Given the description of an element on the screen output the (x, y) to click on. 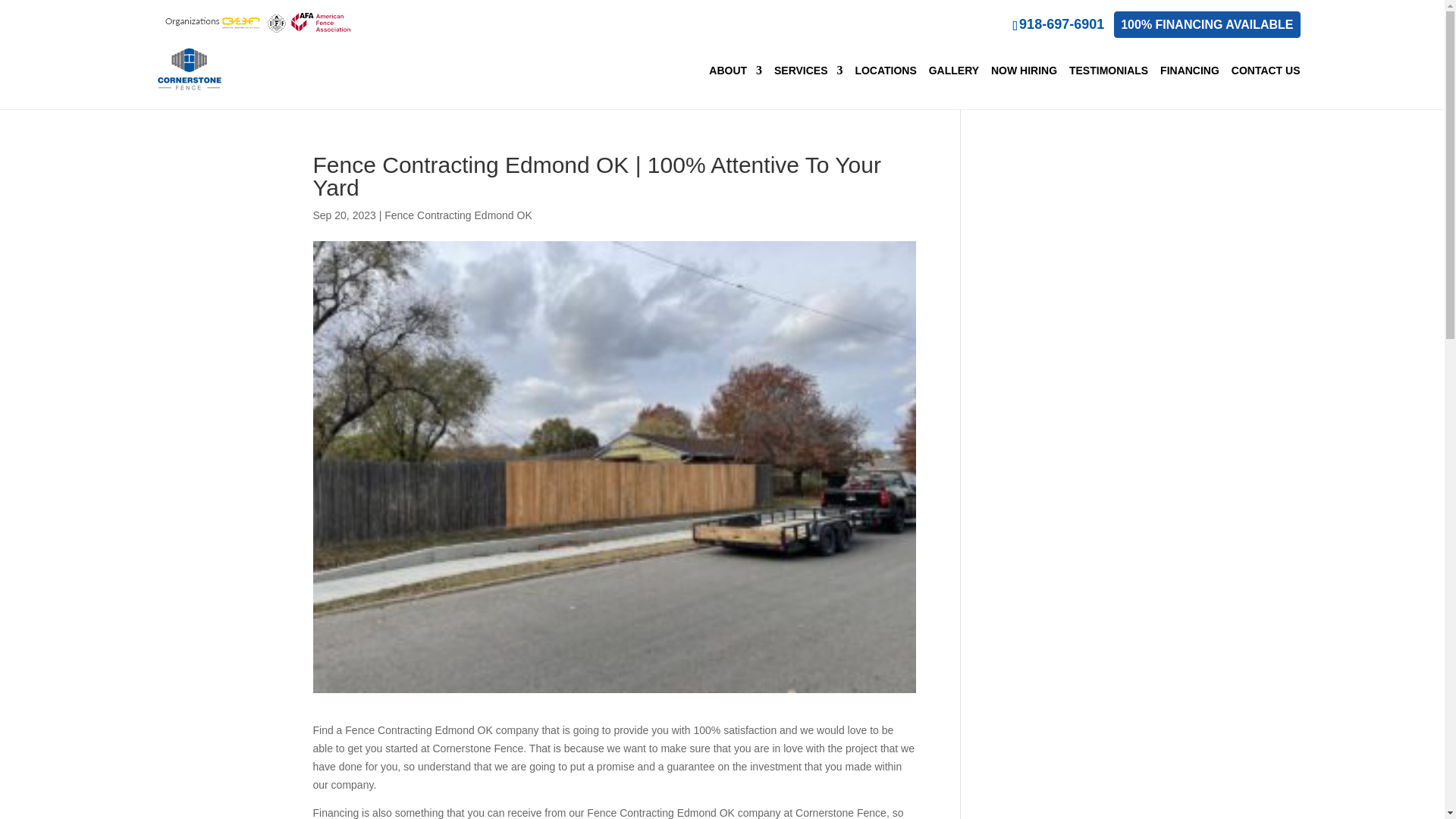
GALLERY (953, 70)
ABOUT (735, 70)
SERVICES (808, 70)
NOW HIRING (1024, 70)
TESTIMONIALS (1108, 70)
LOCATIONS (884, 70)
918-697-6901 (1059, 24)
CONTACT US (1265, 70)
Fence Contracting Edmond OK (458, 215)
FINANCING (1190, 70)
